Given the description of an element on the screen output the (x, y) to click on. 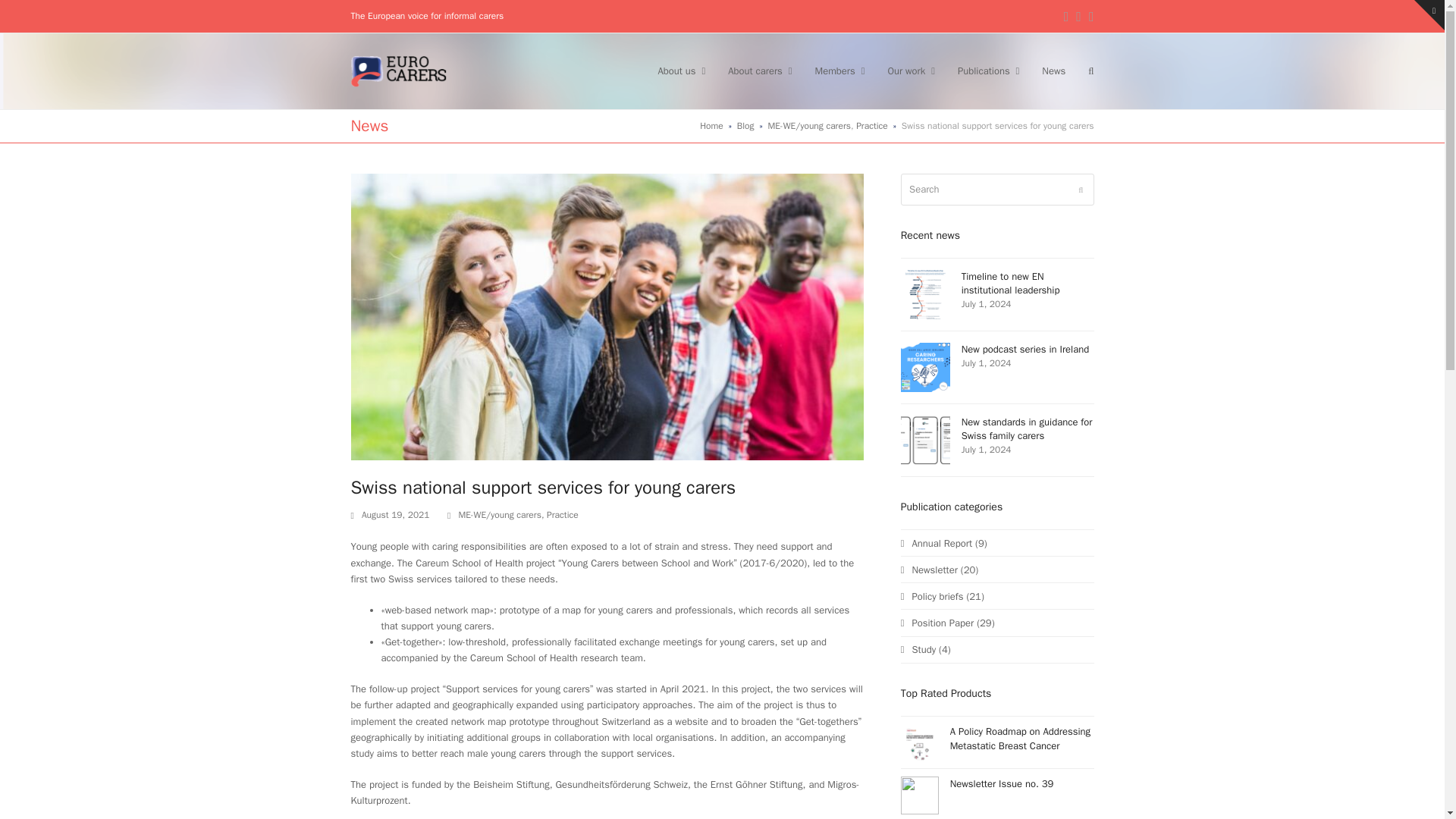
About carers (759, 71)
Members (839, 71)
Our work (911, 71)
About us (681, 71)
